Given the description of an element on the screen output the (x, y) to click on. 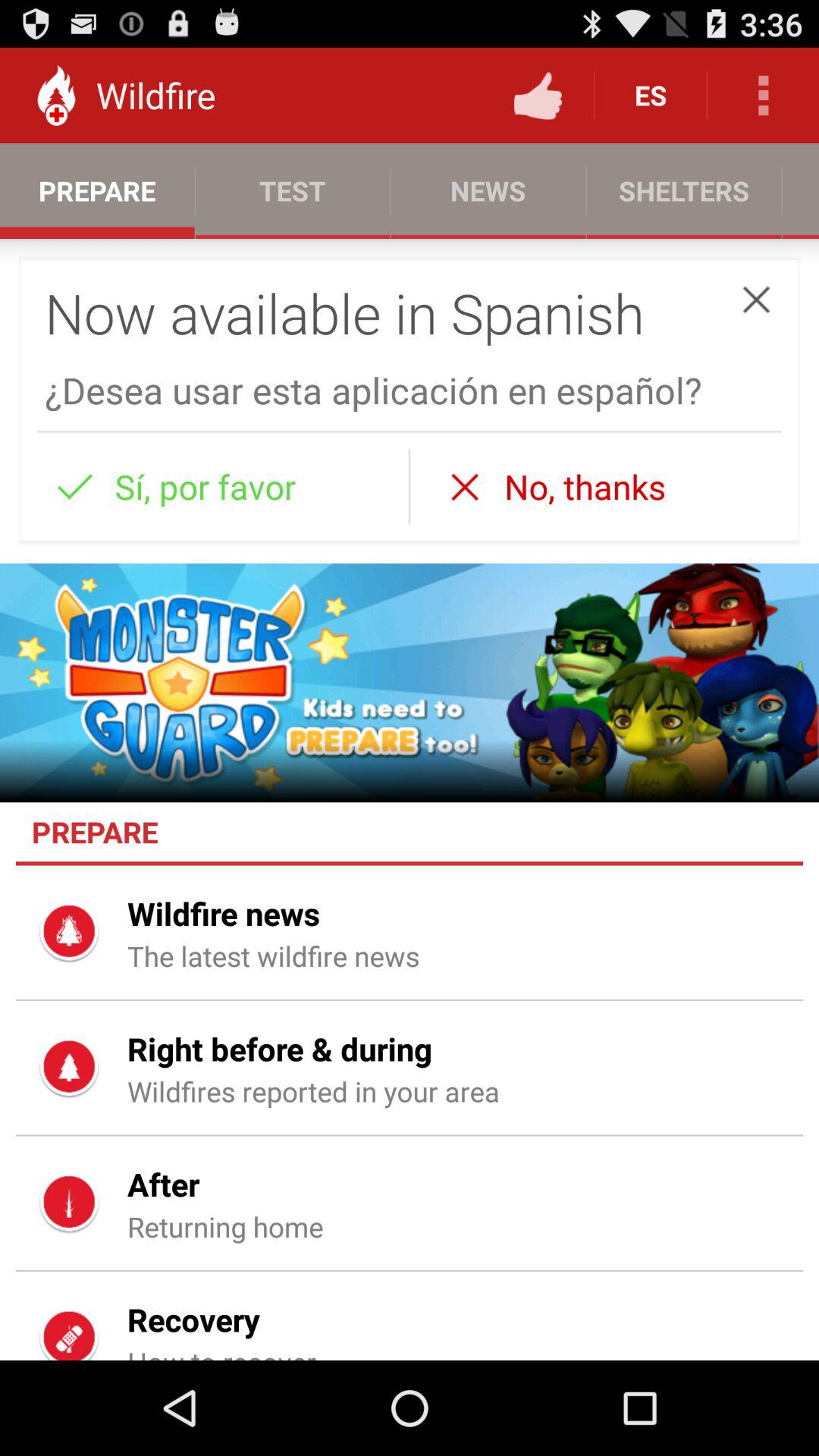
click on more options icon (763, 95)
select the tab news on the web page (488, 190)
click on the image next to wildfire news (69, 933)
